Given the description of an element on the screen output the (x, y) to click on. 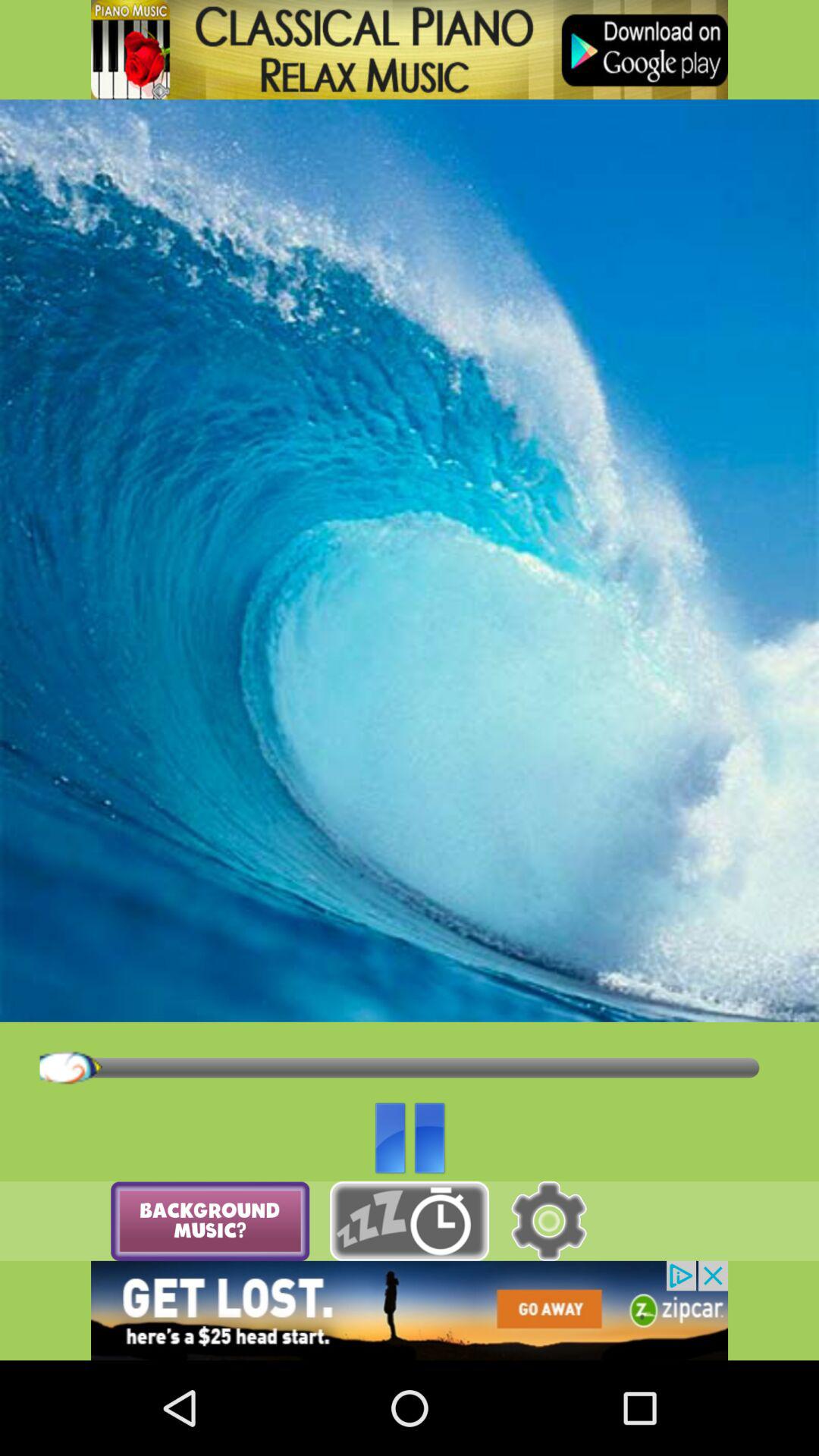
snooze timer option (409, 1220)
